Given the description of an element on the screen output the (x, y) to click on. 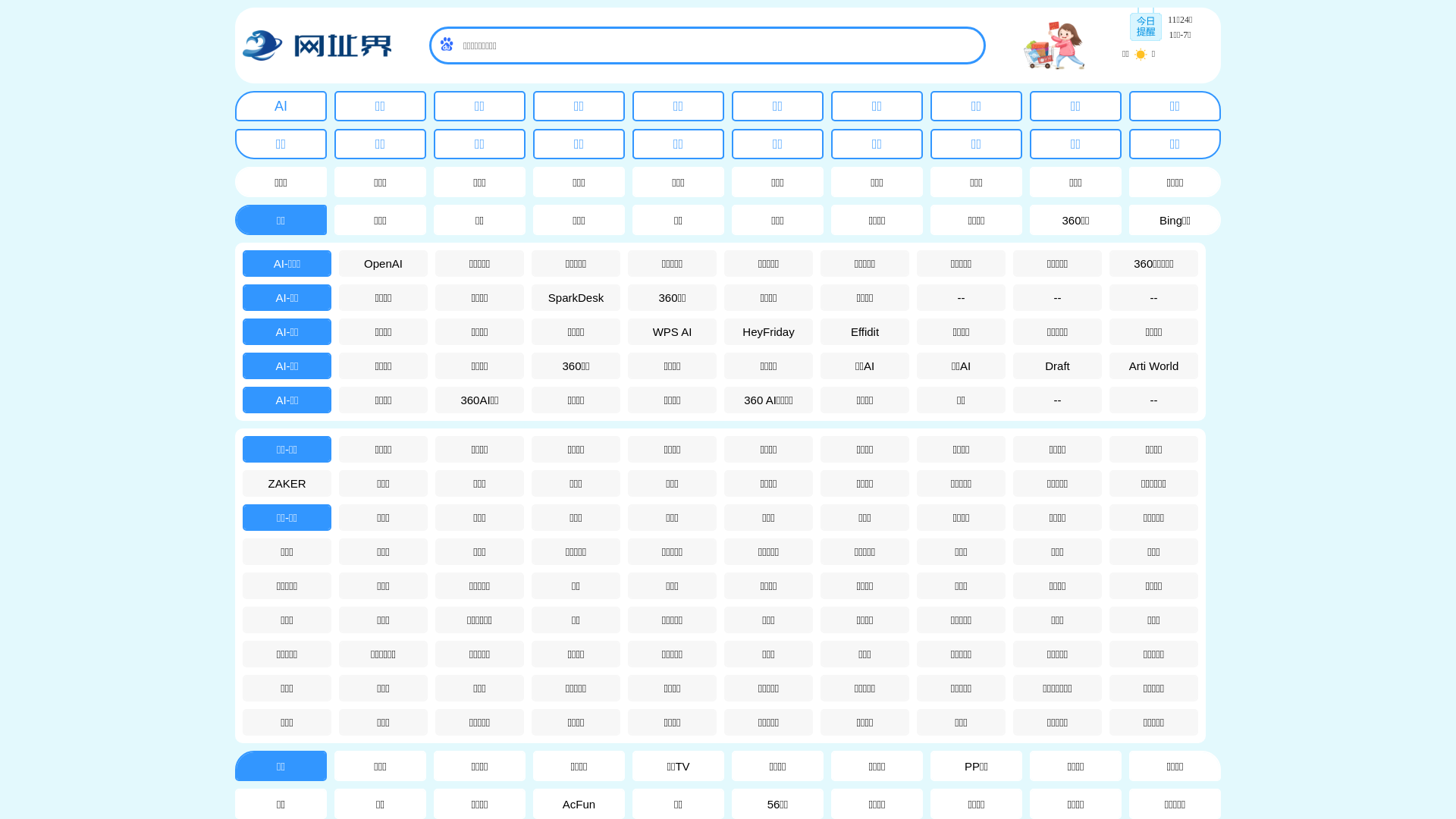
Effidit Element type: text (864, 331)
-- Element type: text (960, 297)
-- Element type: text (1057, 297)
-- Element type: text (1153, 297)
ZAKER Element type: text (286, 483)
OpenAI Element type: text (382, 263)
Draft Element type: text (1057, 365)
Arti World Element type: text (1153, 365)
SparkDesk Element type: text (575, 297)
-- Element type: text (1153, 399)
AI Element type: text (280, 106)
WPS AI Element type: text (671, 331)
-- Element type: text (1057, 399)
HeyFriday Element type: text (768, 331)
